Given the description of an element on the screen output the (x, y) to click on. 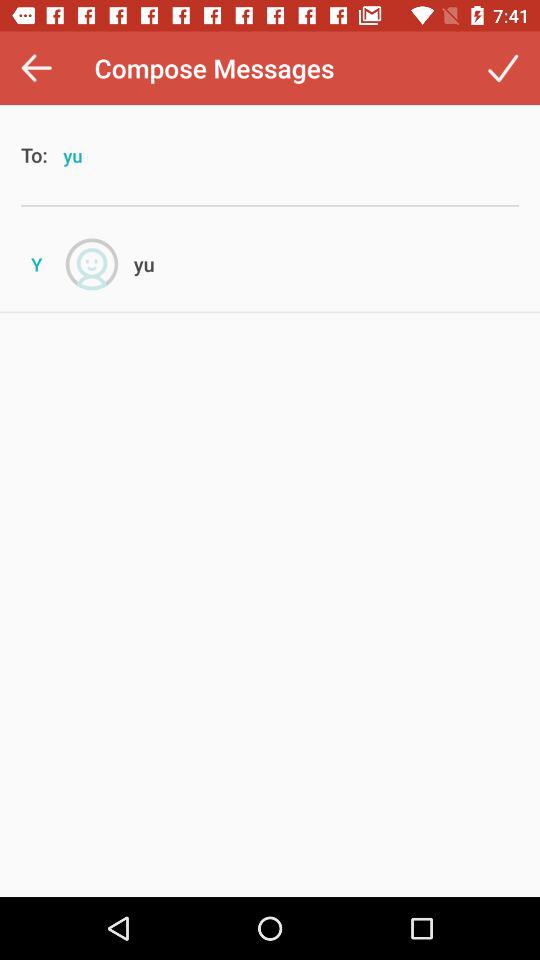
press the icon next to the compose messages icon (36, 68)
